Given the description of an element on the screen output the (x, y) to click on. 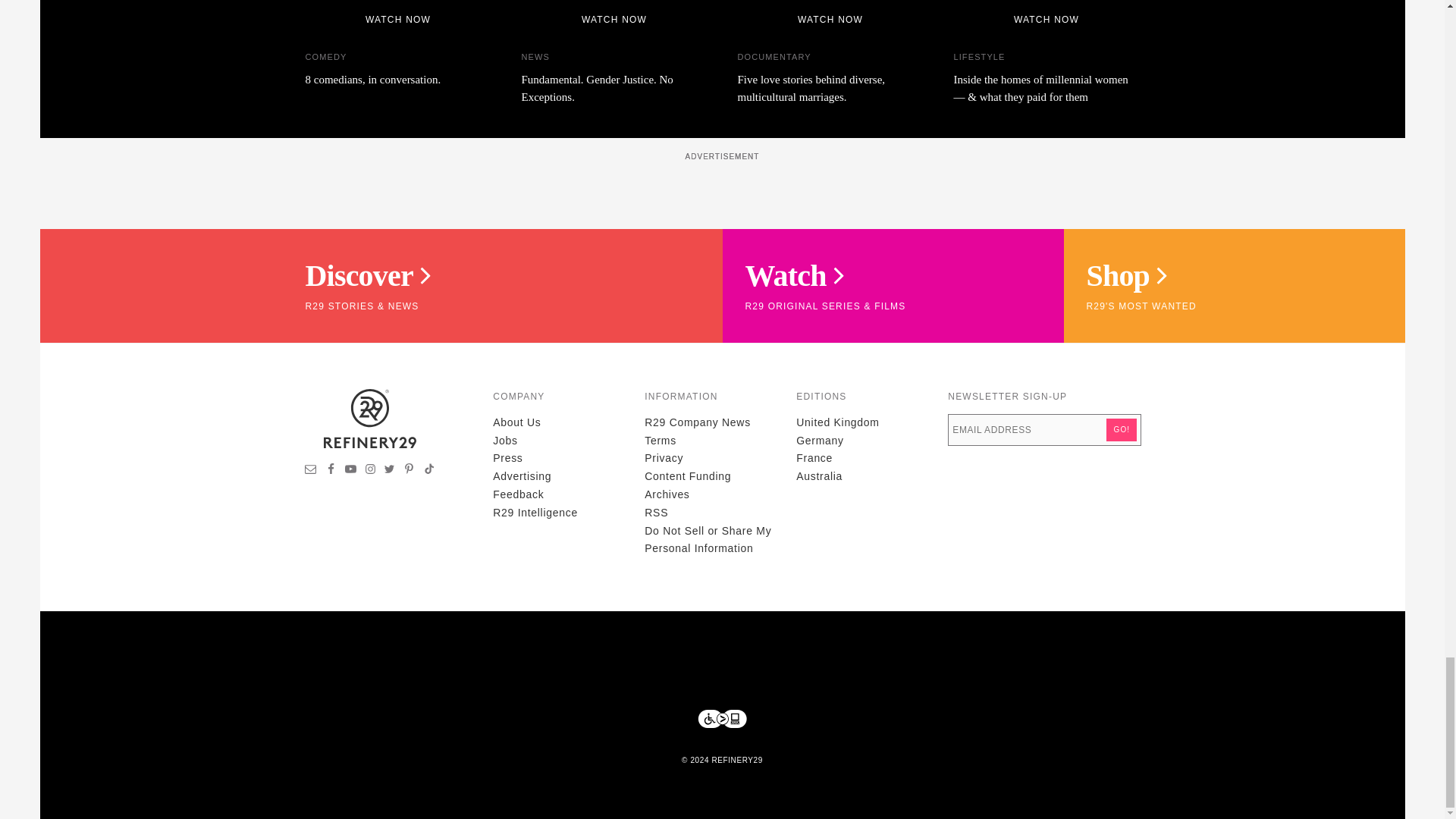
Sign up for newsletters (310, 470)
Visit Refinery29 on Instagram (370, 470)
Visit Refinery29 on Facebook (331, 470)
Visit Refinery29 on TikTok (428, 470)
Visit Refinery29 on YouTube (350, 470)
Visit Refinery29 on Pinterest (408, 470)
Visit Refinery29 on Twitter (389, 470)
